Given the description of an element on the screen output the (x, y) to click on. 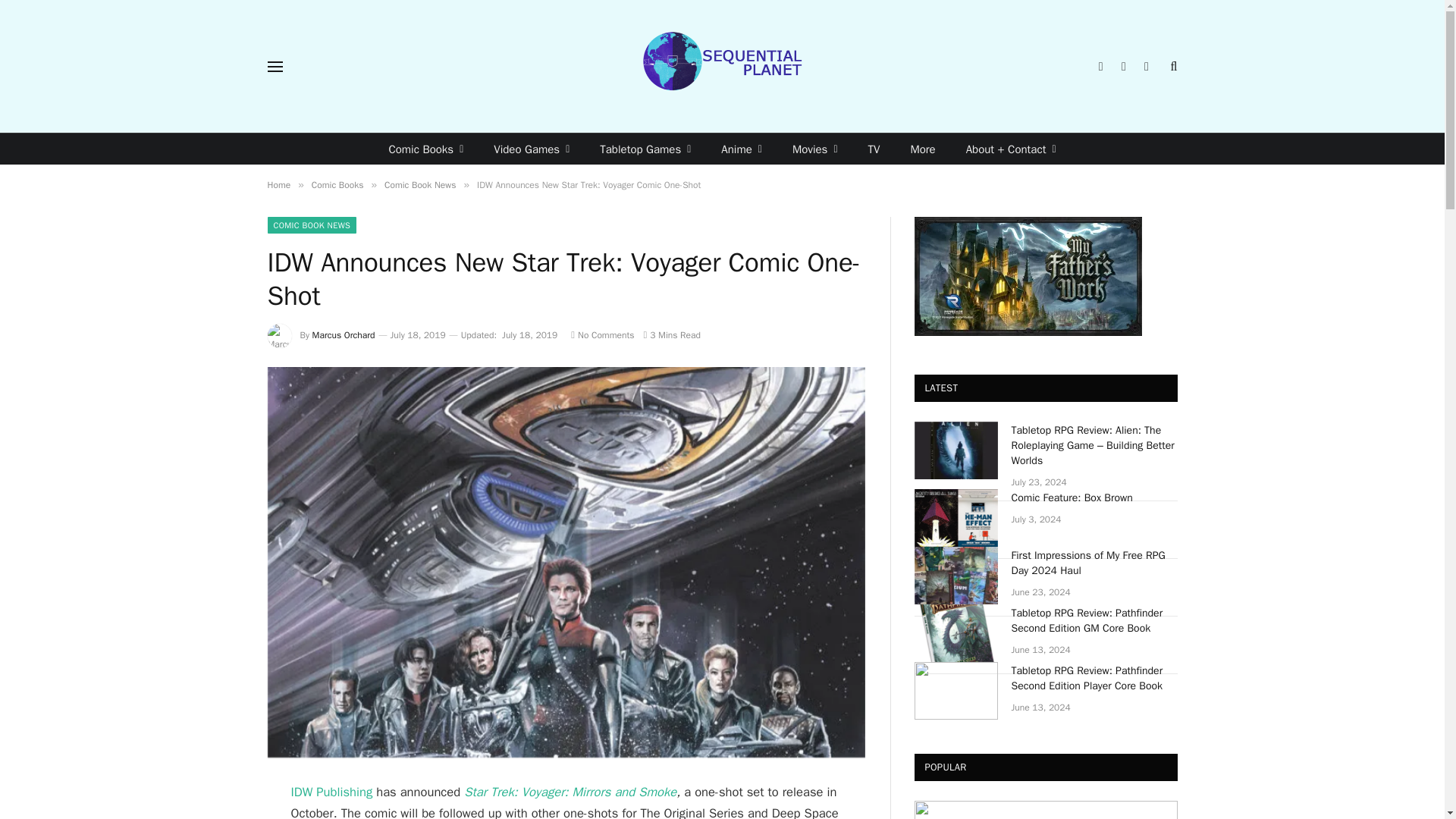
Home (277, 184)
Tabletop Games (645, 148)
More (922, 148)
Comic Books (425, 148)
Posts by Marcus Orchard (344, 335)
TV (873, 148)
Movies (815, 148)
Comic Books (337, 184)
Video Games (532, 148)
Anime (741, 148)
Sequential Planet (721, 66)
